Given the description of an element on the screen output the (x, y) to click on. 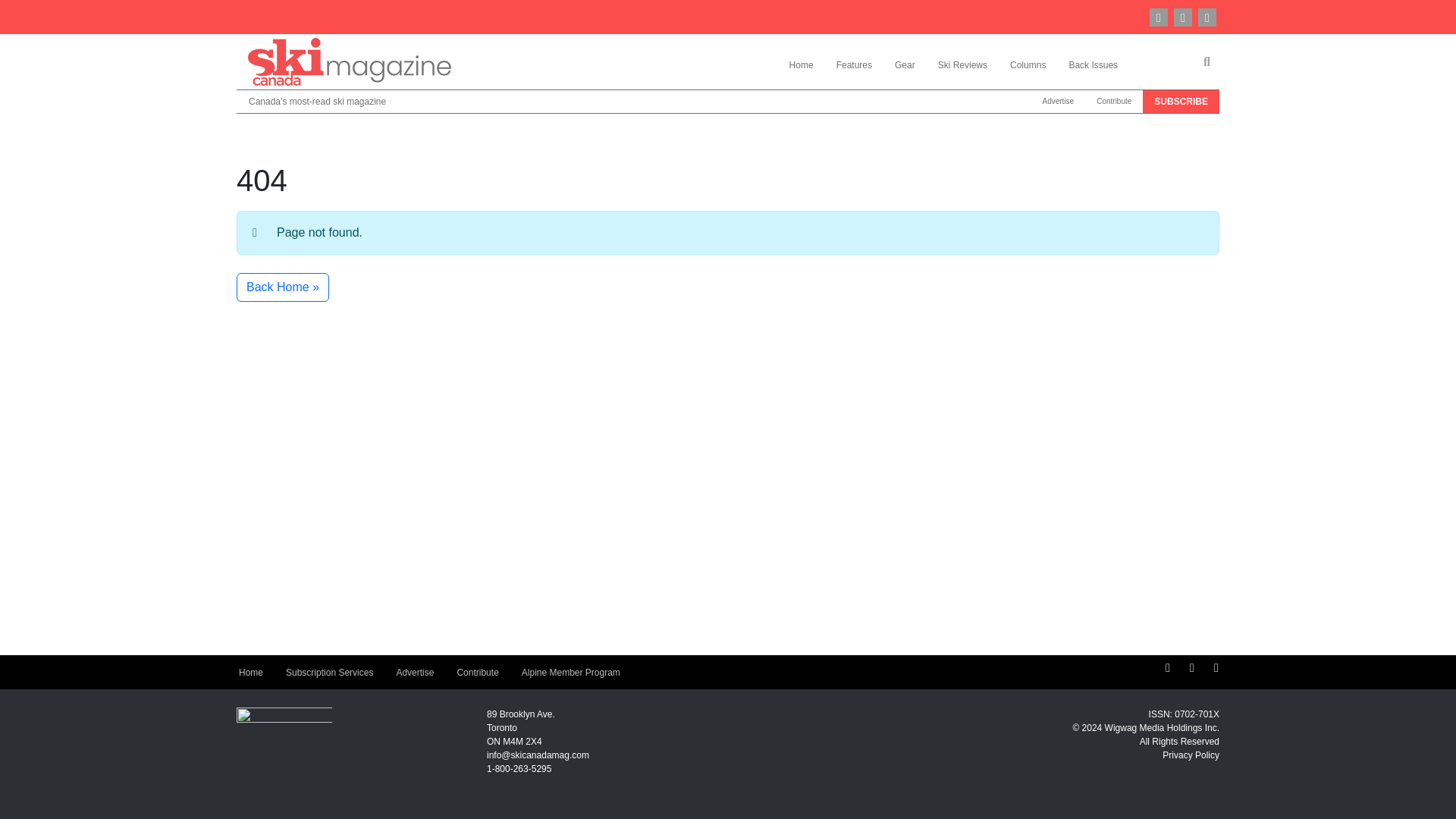
facebook (1191, 667)
Home (251, 672)
Advertise (1057, 101)
instagram (1158, 16)
Search (1206, 62)
twitter (1206, 16)
Back Issues (1093, 64)
SUBSCRIBE (1181, 101)
facebook (1182, 16)
Features (854, 64)
